Given the description of an element on the screen output the (x, y) to click on. 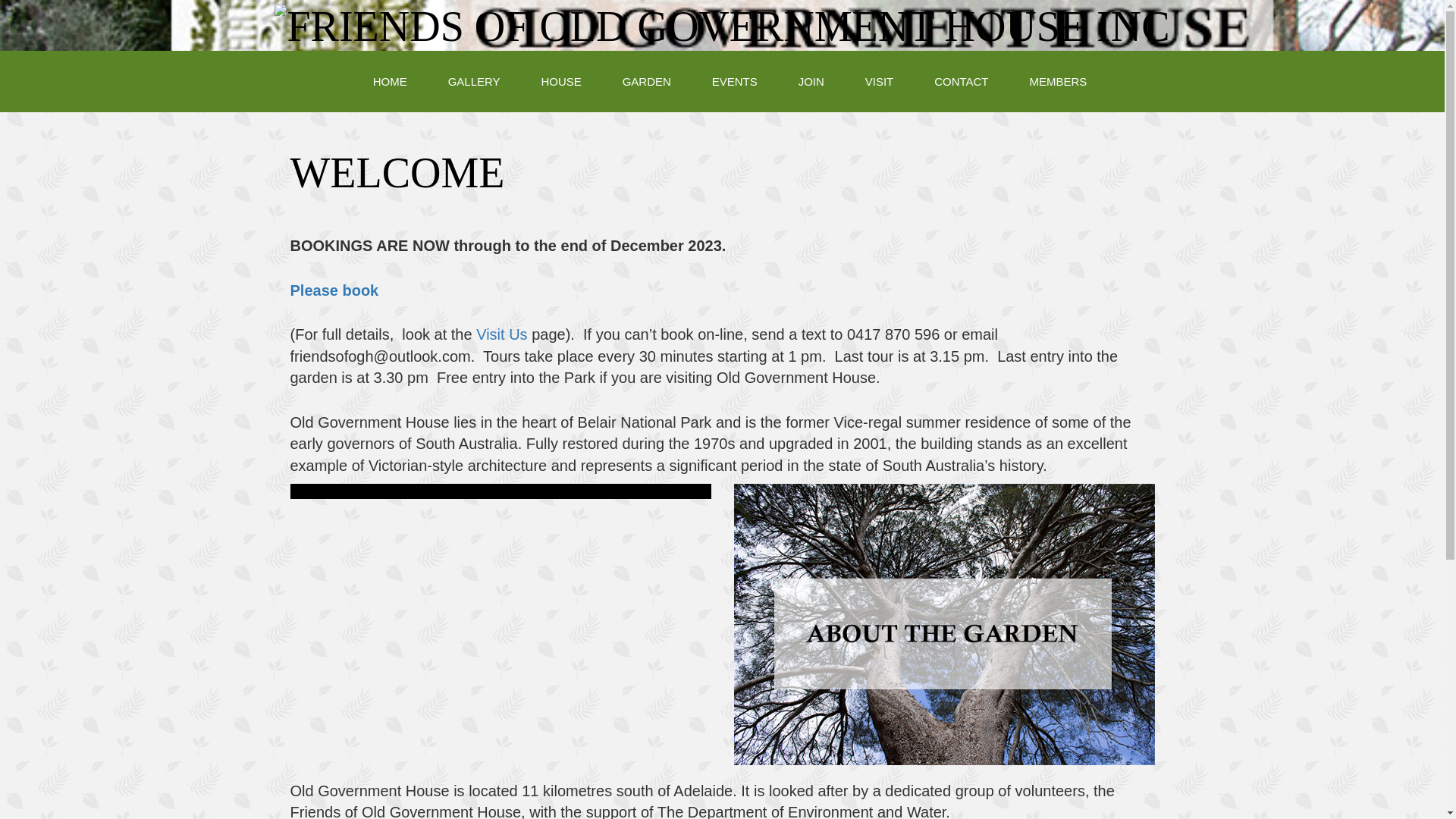
HOME Element type: text (389, 81)
HOUSE Element type: text (560, 81)
JOIN Element type: text (811, 81)
EVENTS Element type: text (734, 81)
GALLERY Element type: text (473, 81)
MEMBERS Element type: text (1057, 81)
Visit Us Element type: text (501, 334)
GARDEN Element type: text (646, 81)
CONTACT Element type: text (960, 81)
VISIT Element type: text (879, 81)
Please book Element type: text (333, 290)
